Given the description of an element on the screen output the (x, y) to click on. 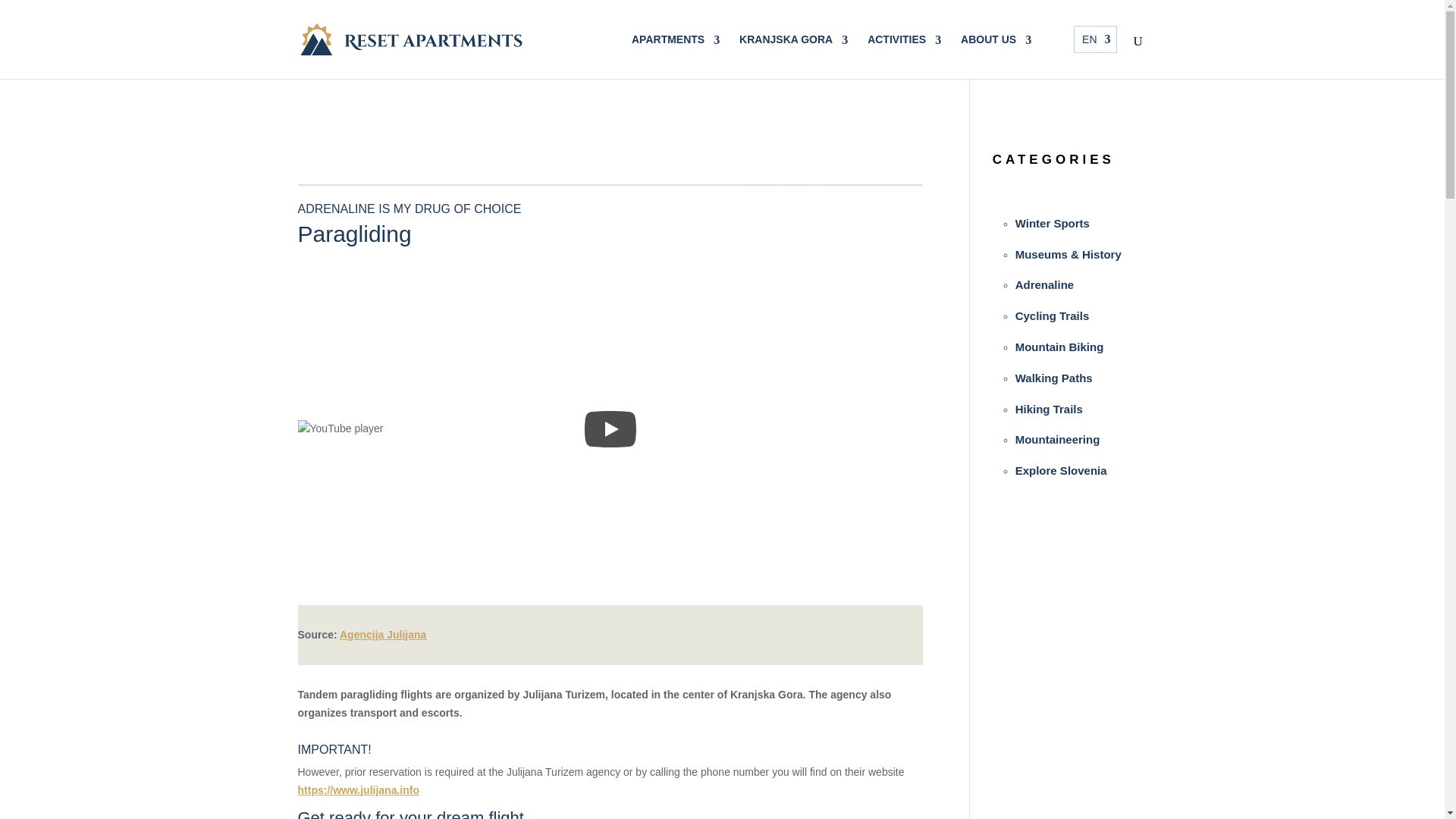
KRANJSKA GORA (793, 50)
ACTIVITIES (903, 50)
ABOUT US (995, 50)
APARTMENTS (675, 50)
EN (1095, 39)
